Given the description of an element on the screen output the (x, y) to click on. 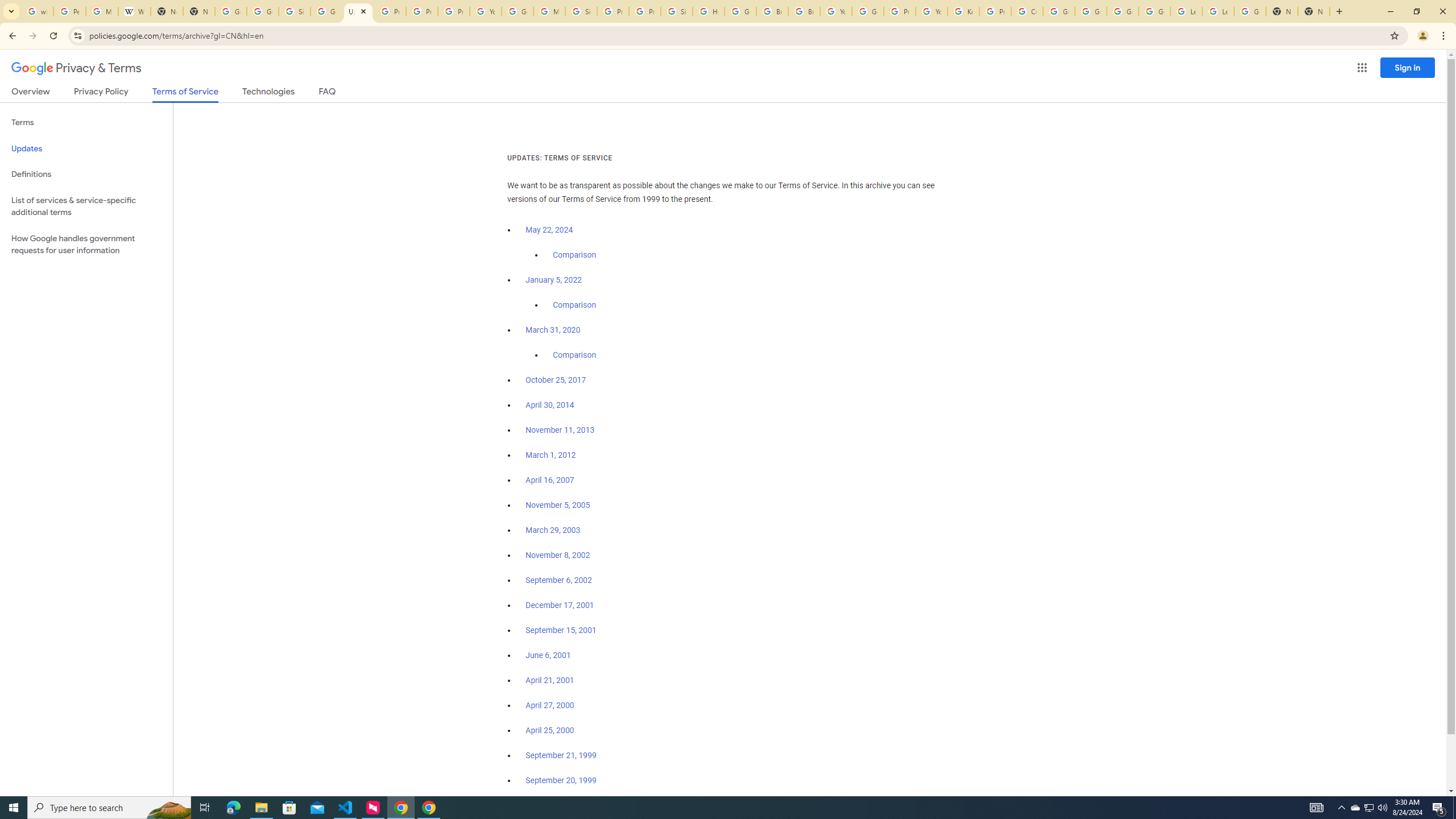
March 31, 2020 (552, 330)
YouTube (836, 11)
April 27, 2000 (550, 705)
September 6, 2002 (558, 579)
New Tab (1313, 11)
Comparison (574, 355)
